Given the description of an element on the screen output the (x, y) to click on. 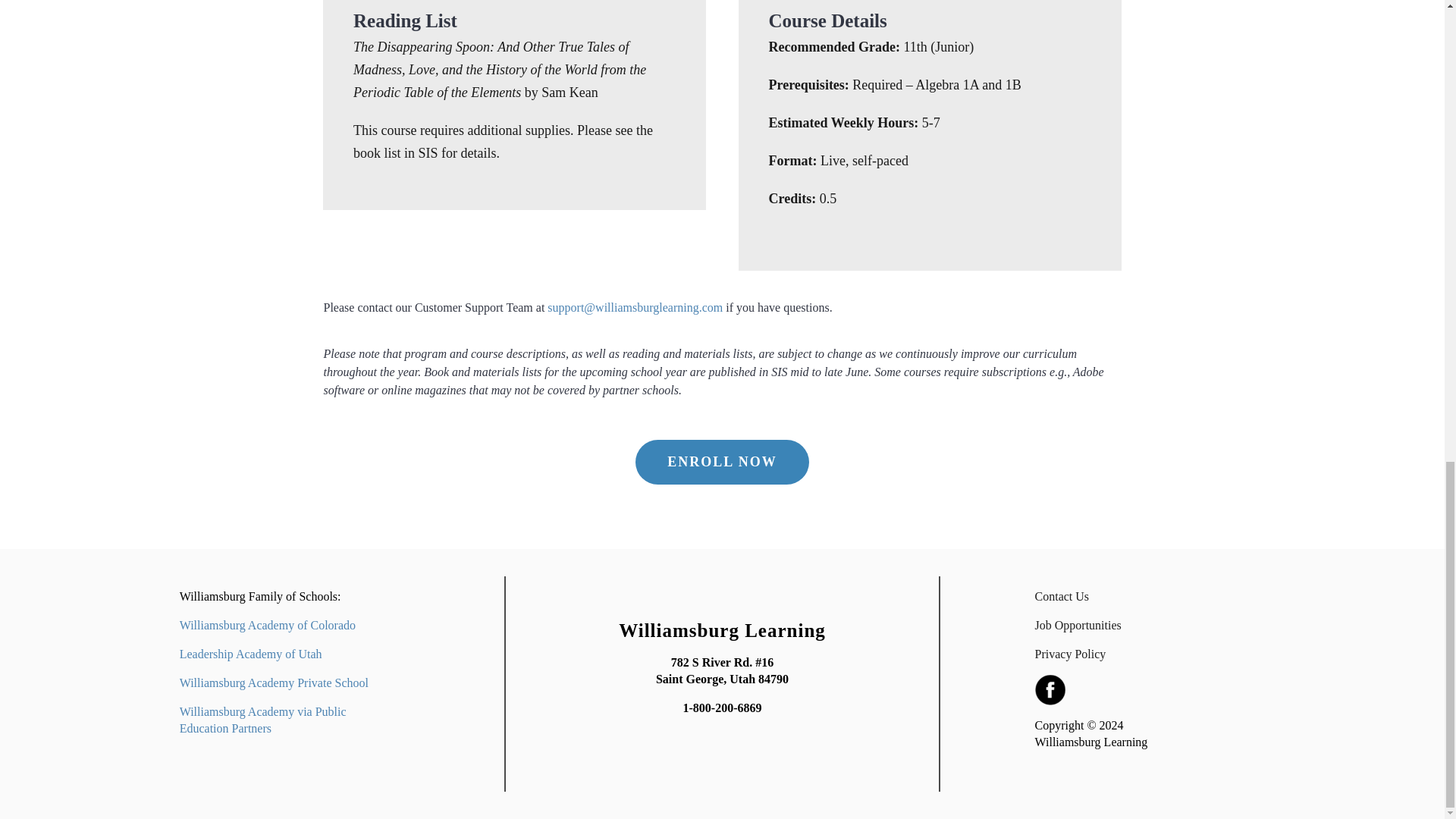
ENROLL NOW (722, 472)
